Given the description of an element on the screen output the (x, y) to click on. 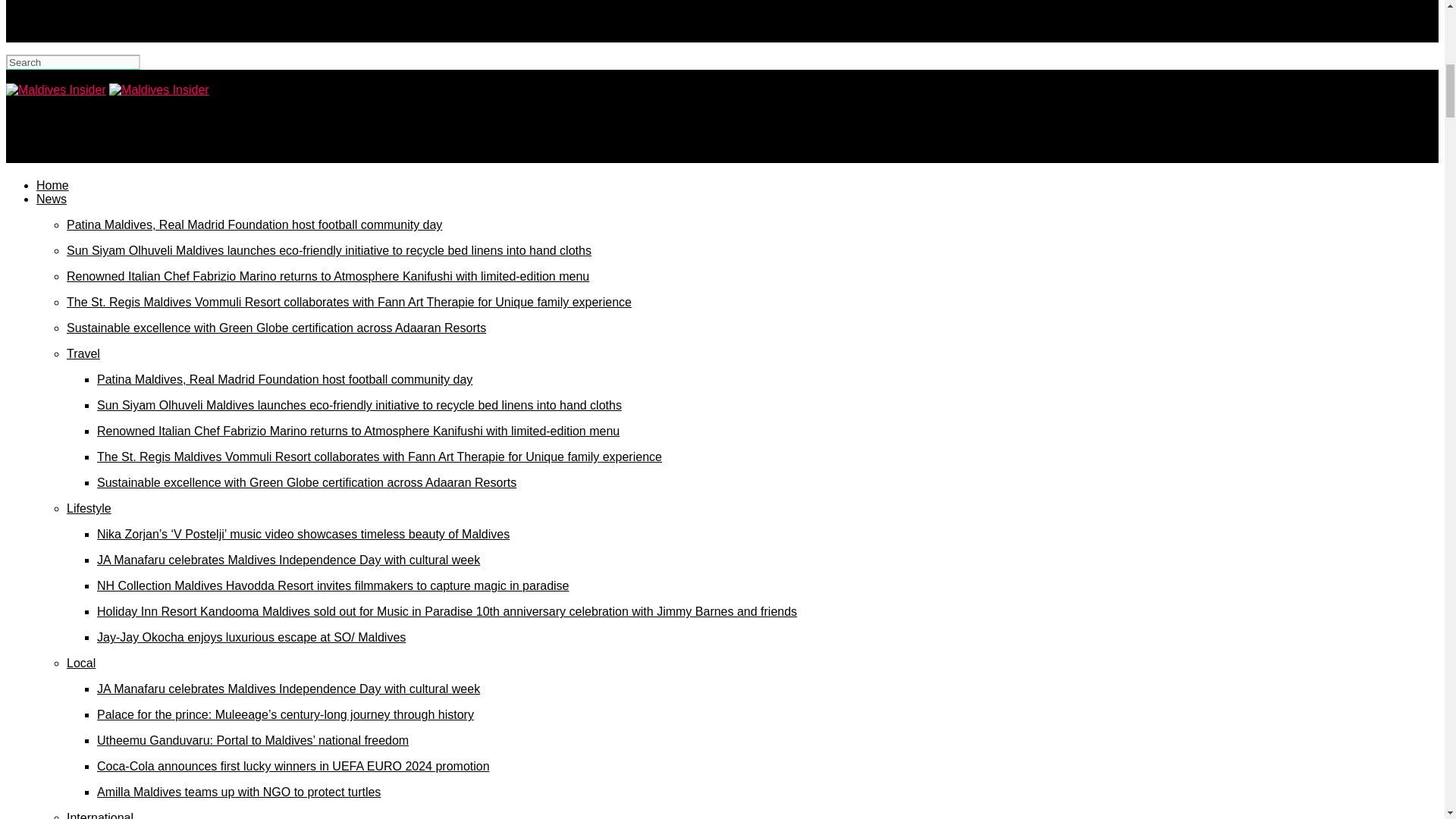
Search (72, 61)
